Given the description of an element on the screen output the (x, y) to click on. 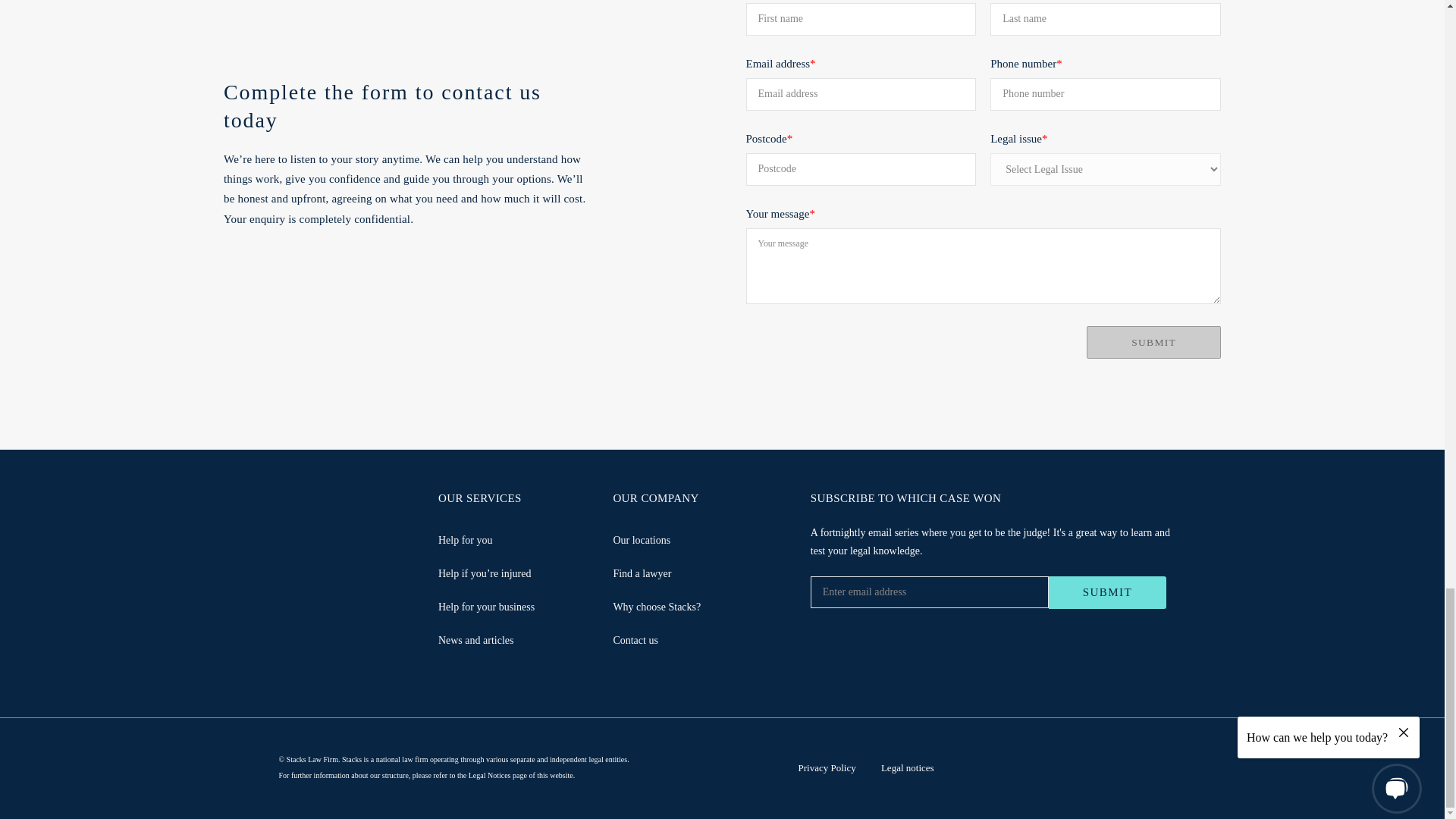
Submit (1107, 592)
Submit (1153, 342)
